Given the description of an element on the screen output the (x, y) to click on. 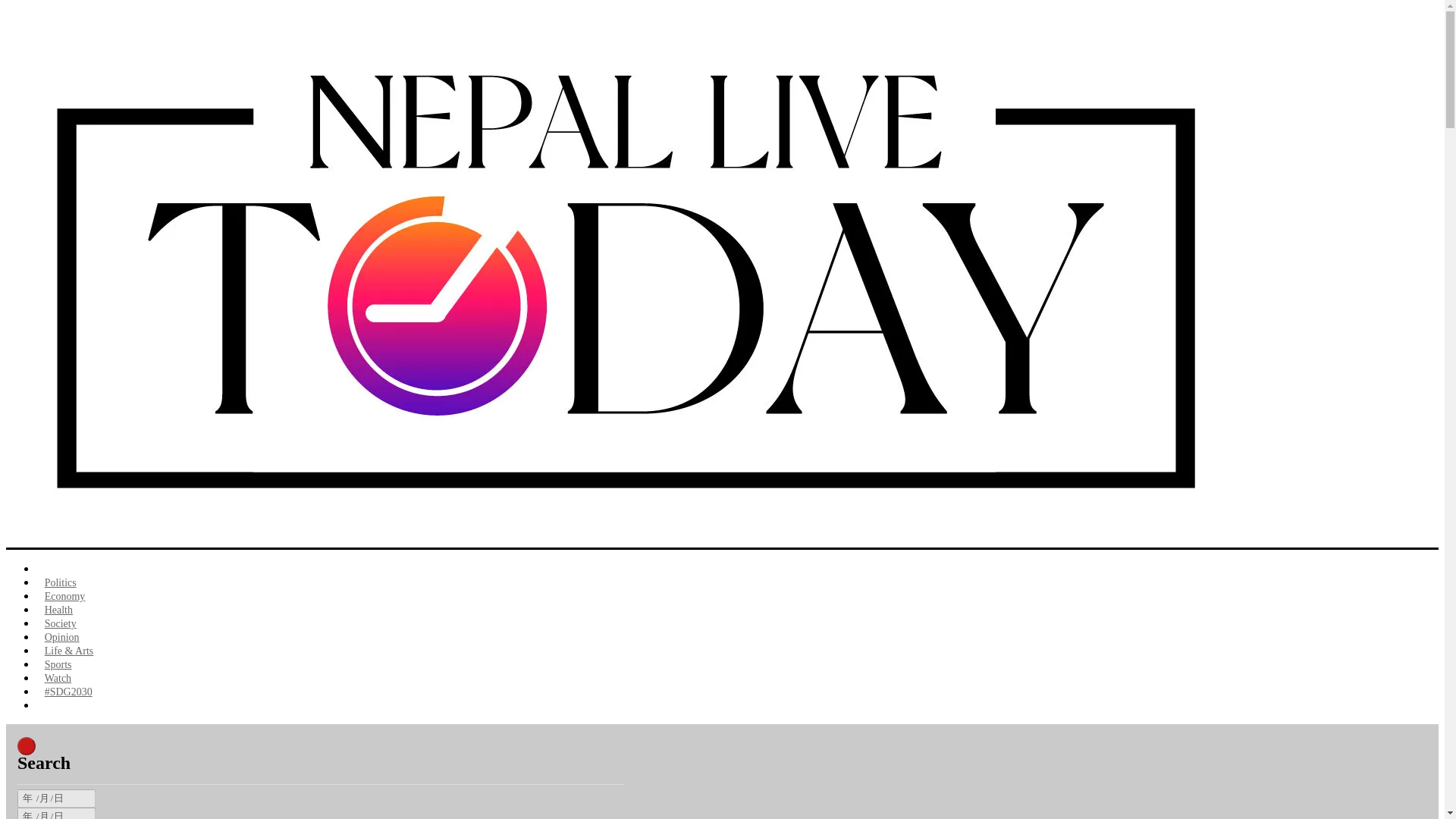
Society (60, 623)
Politics (60, 582)
Sports (58, 664)
Economy (64, 595)
Health (58, 609)
Opinion (61, 636)
Watch (58, 677)
